Given the description of an element on the screen output the (x, y) to click on. 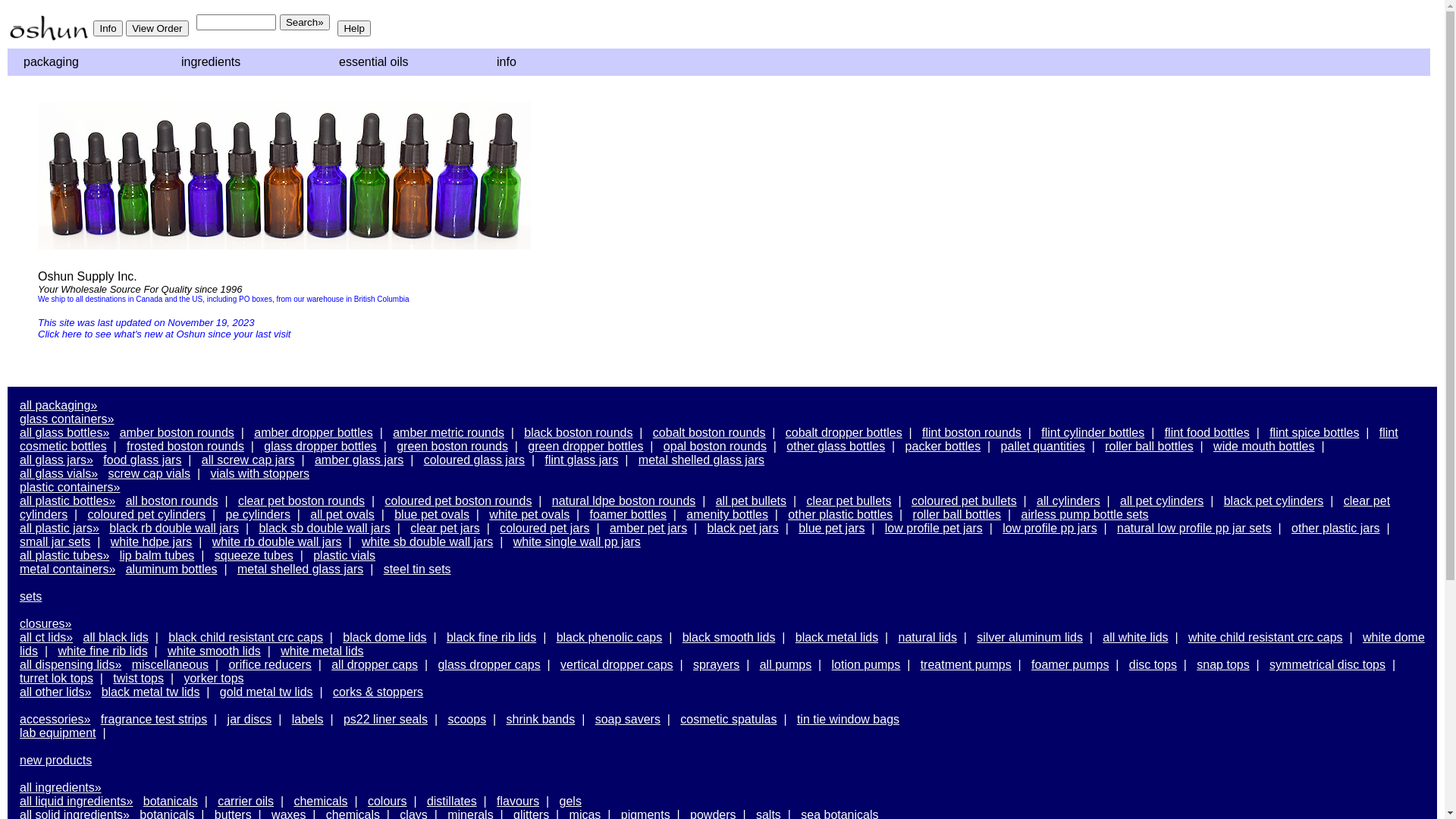
miscellaneous Element type: text (169, 664)
opal boston rounds Element type: text (714, 445)
sprayers Element type: text (716, 664)
food glass jars Element type: text (142, 459)
steel tin sets Element type: text (417, 568)
tin tie window bags Element type: text (848, 718)
screw cap vials Element type: text (148, 473)
symmetrical disc tops Element type: text (1327, 664)
lip balm tubes Element type: text (156, 555)
cobalt boston rounds Element type: text (708, 432)
amber metric rounds Element type: text (448, 432)
flavours Element type: text (517, 800)
foamer bottles Element type: text (627, 514)
black rb double wall jars Element type: text (173, 527)
white smooth lids Element type: text (213, 650)
all screw cap jars Element type: text (247, 459)
amber boston rounds Element type: text (176, 432)
black child resistant crc caps Element type: text (245, 636)
scoops Element type: text (466, 718)
flint food bottles Element type: text (1206, 432)
lab equipment Element type: text (57, 732)
gold metal tw lids Element type: text (266, 691)
colours Element type: text (387, 800)
black smooth lids Element type: text (728, 636)
Help Element type: text (353, 28)
amber pet jars Element type: text (648, 527)
natural ldpe boston rounds Element type: text (623, 500)
Info Element type: text (107, 28)
ps22 liner seals Element type: text (385, 718)
View Order Element type: text (156, 28)
coloured pet bullets Element type: text (963, 500)
cobalt dropper bottles Element type: text (843, 432)
all pumps Element type: text (785, 664)
natural lids Element type: text (927, 636)
amber dropper bottles Element type: text (313, 432)
other plastic jars Element type: text (1335, 527)
white rb double wall jars Element type: text (277, 541)
shrink bands Element type: text (540, 718)
metal shelled glass jars Element type: text (300, 568)
lotion pumps Element type: text (865, 664)
small jar sets Element type: text (54, 541)
all cylinders Element type: text (1068, 500)
black dome lids Element type: text (384, 636)
white child resistant crc caps Element type: text (1265, 636)
black fine rib lids Element type: text (491, 636)
cosmetic spatulas Element type: text (728, 718)
orifice reducers Element type: text (269, 664)
white dome lids Element type: text (721, 643)
botanicals Element type: text (170, 800)
all pet cylinders Element type: text (1161, 500)
disc tops Element type: text (1152, 664)
info Element type: text (557, 62)
black boston rounds Element type: text (578, 432)
white metal lids Element type: text (321, 650)
gels Element type: text (570, 800)
turret lok tops Element type: text (56, 677)
low profile pp jars Element type: text (1049, 527)
yorker tops Element type: text (213, 677)
pallet quantities Element type: text (1043, 445)
vertical dropper caps Element type: text (616, 664)
white hdpe jars Element type: text (151, 541)
clear pet cylinders Element type: text (704, 507)
flint spice bottles Element type: text (1313, 432)
low profile pet jars Element type: text (933, 527)
coloured pet jars Element type: text (544, 527)
coloured pet cylinders Element type: text (146, 514)
green dropper bottles Element type: text (585, 445)
all white lids Element type: text (1134, 636)
white single wall pp jars Element type: text (576, 541)
green boston rounds Element type: text (452, 445)
black phenolic caps Element type: text (609, 636)
new products Element type: text (55, 759)
essential oils Element type: text (399, 62)
pe cylinders Element type: text (257, 514)
corks & stoppers Element type: text (377, 691)
coloured pet boston rounds Element type: text (458, 500)
other glass bottles Element type: text (835, 445)
blue pet jars Element type: text (831, 527)
glass dropper bottles Element type: text (319, 445)
metal shelled glass jars Element type: text (701, 459)
jar discs Element type: text (249, 718)
sets Element type: text (30, 595)
all black lids Element type: text (115, 636)
clear pet boston rounds Element type: text (301, 500)
plastic vials Element type: text (344, 555)
packaging Element type: text (83, 62)
wide mouth bottles Element type: text (1263, 445)
carrier oils Element type: text (245, 800)
other plastic bottles Element type: text (839, 514)
aluminum bottles Element type: text (171, 568)
flint boston rounds Element type: text (971, 432)
white fine rib lids Element type: text (102, 650)
black pet jars Element type: text (742, 527)
foamer pumps Element type: text (1069, 664)
twist tops Element type: text (137, 677)
squeeze tubes Element type: text (253, 555)
snap tops Element type: text (1222, 664)
white sb double wall jars Element type: text (426, 541)
black metal lids Element type: text (836, 636)
amenity bottles Element type: text (727, 514)
roller ball bottles Element type: text (957, 514)
flint cylinder bottles Element type: text (1092, 432)
labels Element type: text (307, 718)
flint cosmetic bottles Element type: text (708, 439)
fragrance test strips Element type: text (153, 718)
vials with stoppers Element type: text (259, 473)
soap savers Element type: text (627, 718)
roller ball bottles Element type: text (1148, 445)
treatment pumps Element type: text (965, 664)
packer bottles Element type: text (943, 445)
clear pet bullets Element type: text (848, 500)
glass dropper caps Element type: text (488, 664)
ingredients Element type: text (241, 62)
flint glass jars Element type: text (581, 459)
natural low profile pp jar sets Element type: text (1194, 527)
all boston rounds Element type: text (171, 500)
all dropper caps Element type: text (374, 664)
all pet bullets Element type: text (750, 500)
frosted boston rounds Element type: text (185, 445)
amber glass jars Element type: text (358, 459)
black sb double wall jars Element type: text (323, 527)
silver aluminum lids Element type: text (1029, 636)
coloured glass jars Element type: text (473, 459)
black metal tw lids Element type: text (150, 691)
black pet cylinders Element type: text (1273, 500)
chemicals Element type: text (320, 800)
distillates Element type: text (451, 800)
all pet ovals Element type: text (342, 514)
white pet ovals Element type: text (529, 514)
clear pet jars Element type: text (445, 527)
blue pet ovals Element type: text (431, 514)
airless pump bottle sets Element type: text (1084, 514)
